Given the description of an element on the screen output the (x, y) to click on. 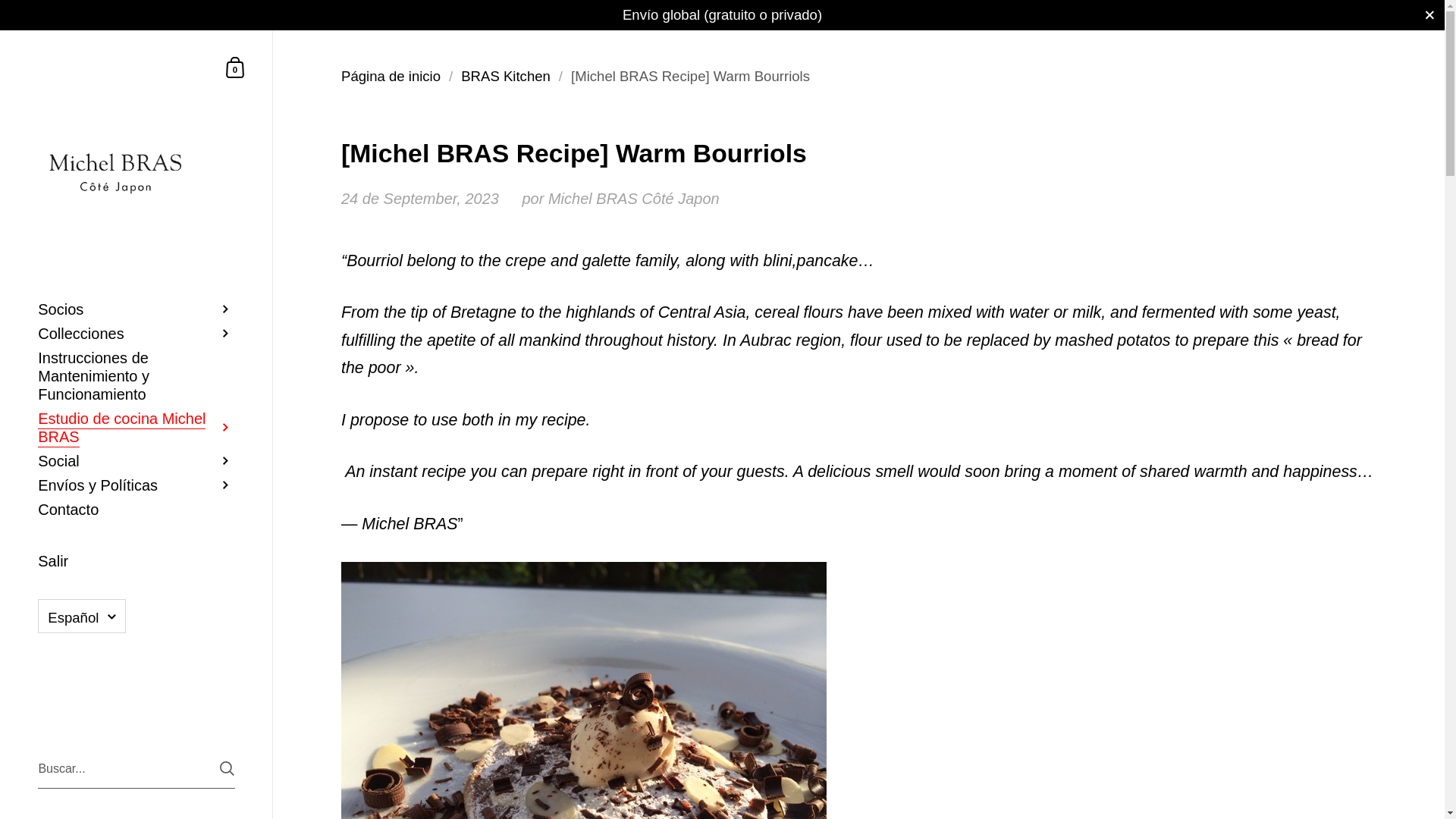
Socios (136, 309)
Carrito (235, 66)
Ir al contenido (235, 66)
